Given the description of an element on the screen output the (x, y) to click on. 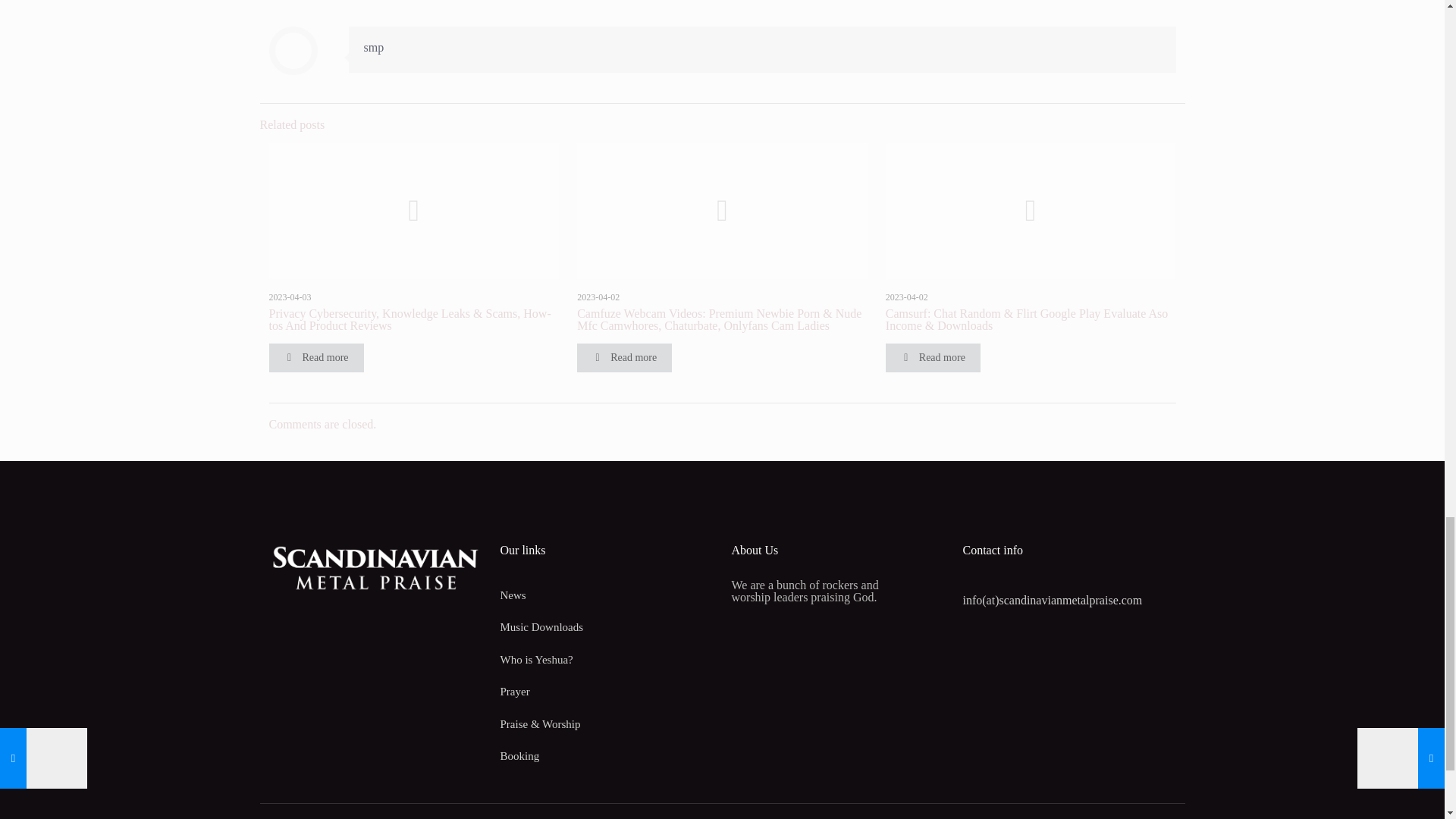
Music Downloads (606, 626)
Read more (314, 357)
smp (374, 47)
Read more (623, 357)
Prayer (606, 691)
Read more (932, 357)
Booking (606, 756)
Who is Yeshua? (606, 659)
News (606, 595)
